Given the description of an element on the screen output the (x, y) to click on. 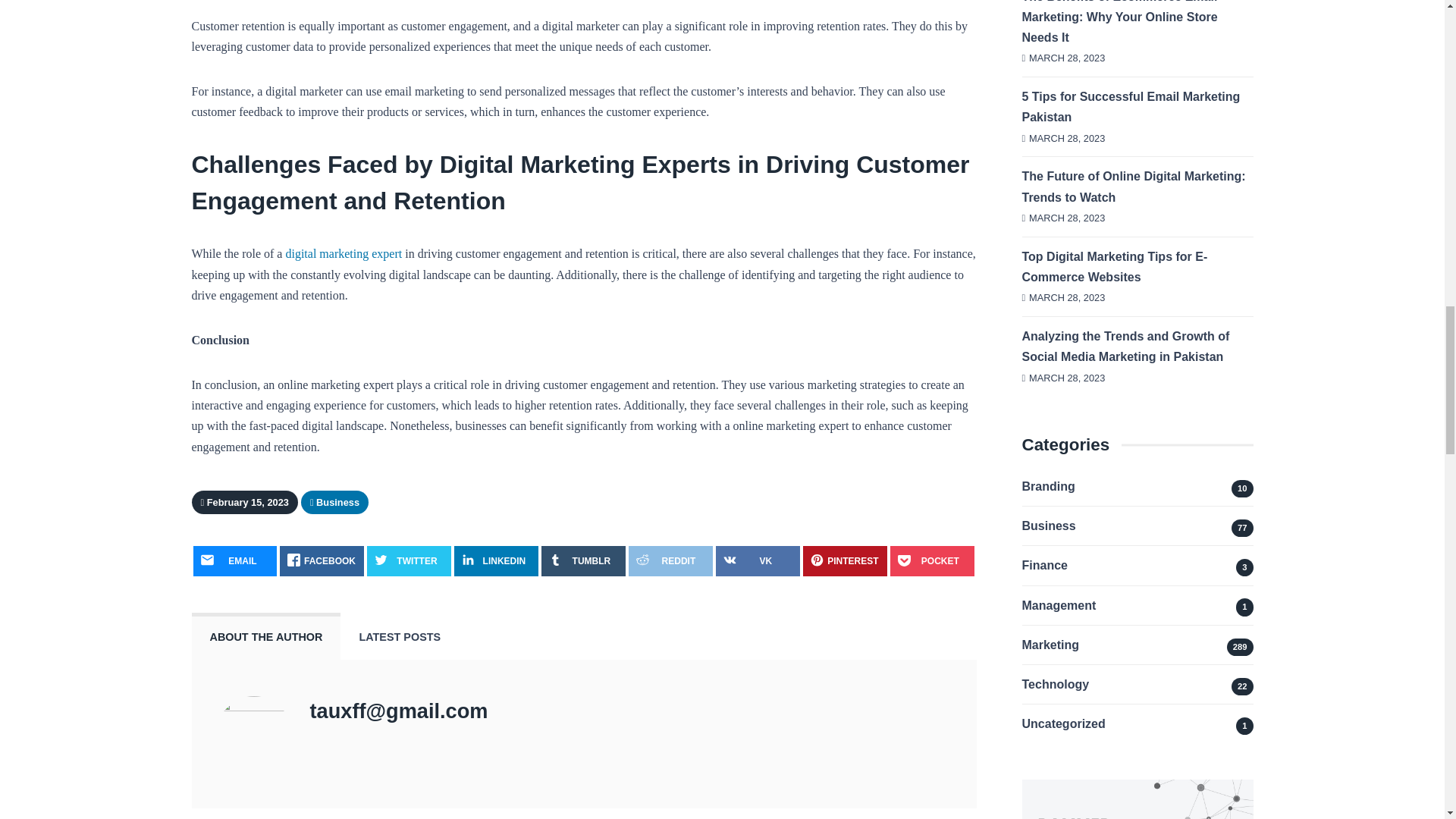
Business (336, 501)
EMAIL (234, 561)
REDDIT (670, 561)
TWITTER (408, 561)
LATEST POSTS (399, 636)
LINKEDIN (496, 561)
digital marketing expert (343, 253)
TUMBLR (583, 561)
POCKET (931, 561)
FACEBOOK (321, 561)
PINTEREST (844, 561)
VK (757, 561)
ABOUT THE AUTHOR (265, 636)
